Given the description of an element on the screen output the (x, y) to click on. 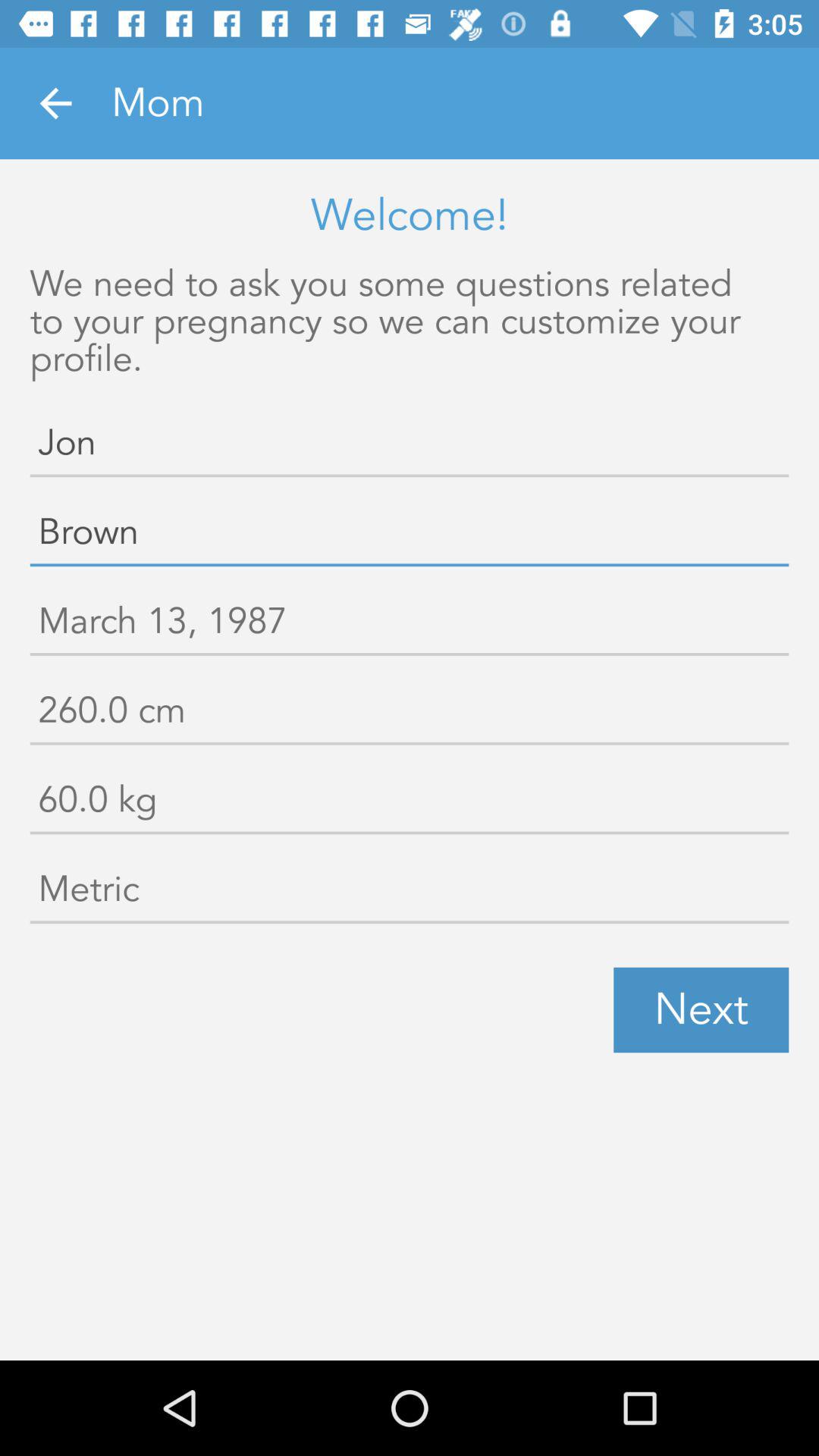
scroll until the metric item (409, 892)
